Given the description of an element on the screen output the (x, y) to click on. 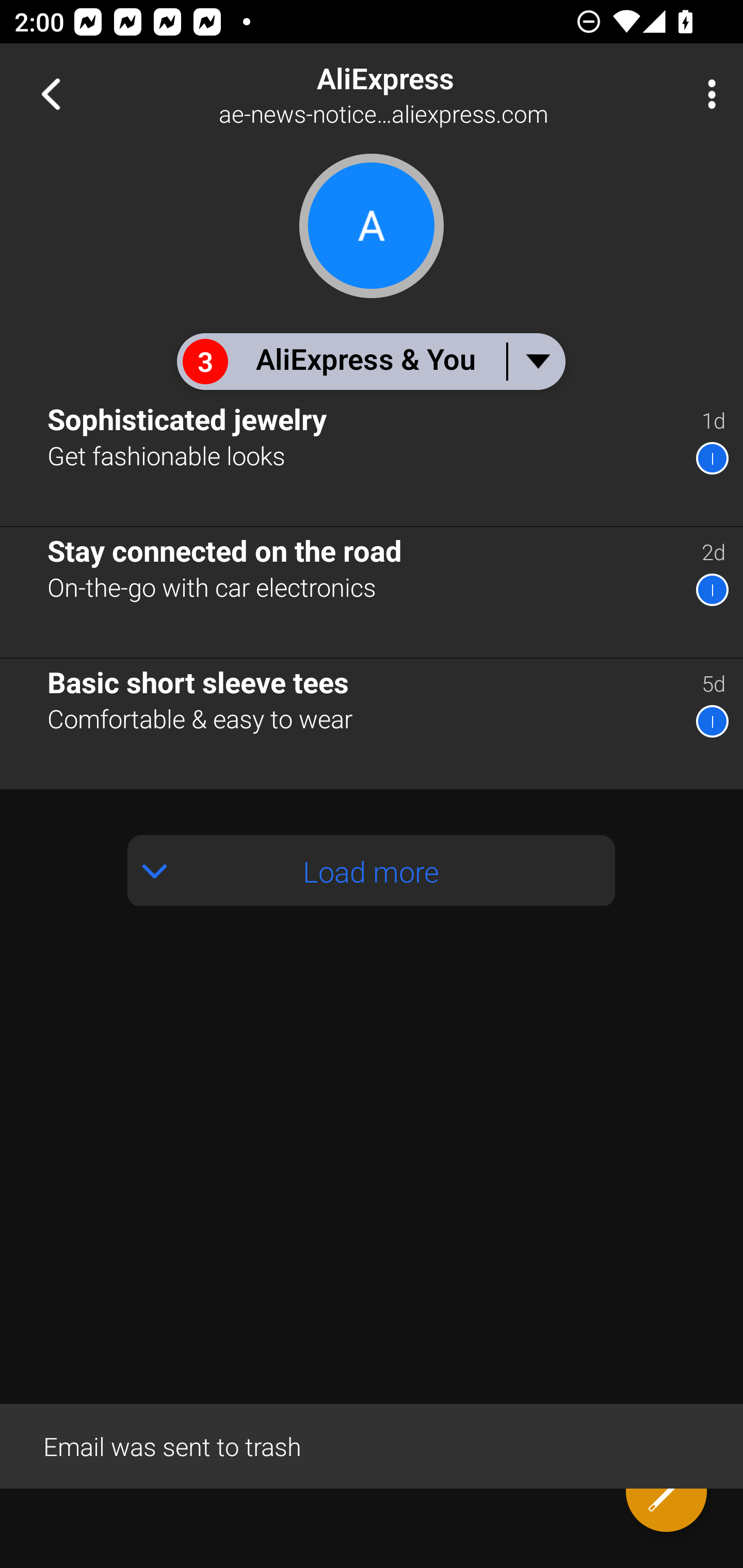
Navigate up (50, 93)
AliExpress ae-news-notice03@mail.aliexpress.com (436, 93)
More Options (706, 93)
3 AliExpress & You (370, 361)
Load more (371, 870)
Email was sent to trash (371, 1445)
